Given the description of an element on the screen output the (x, y) to click on. 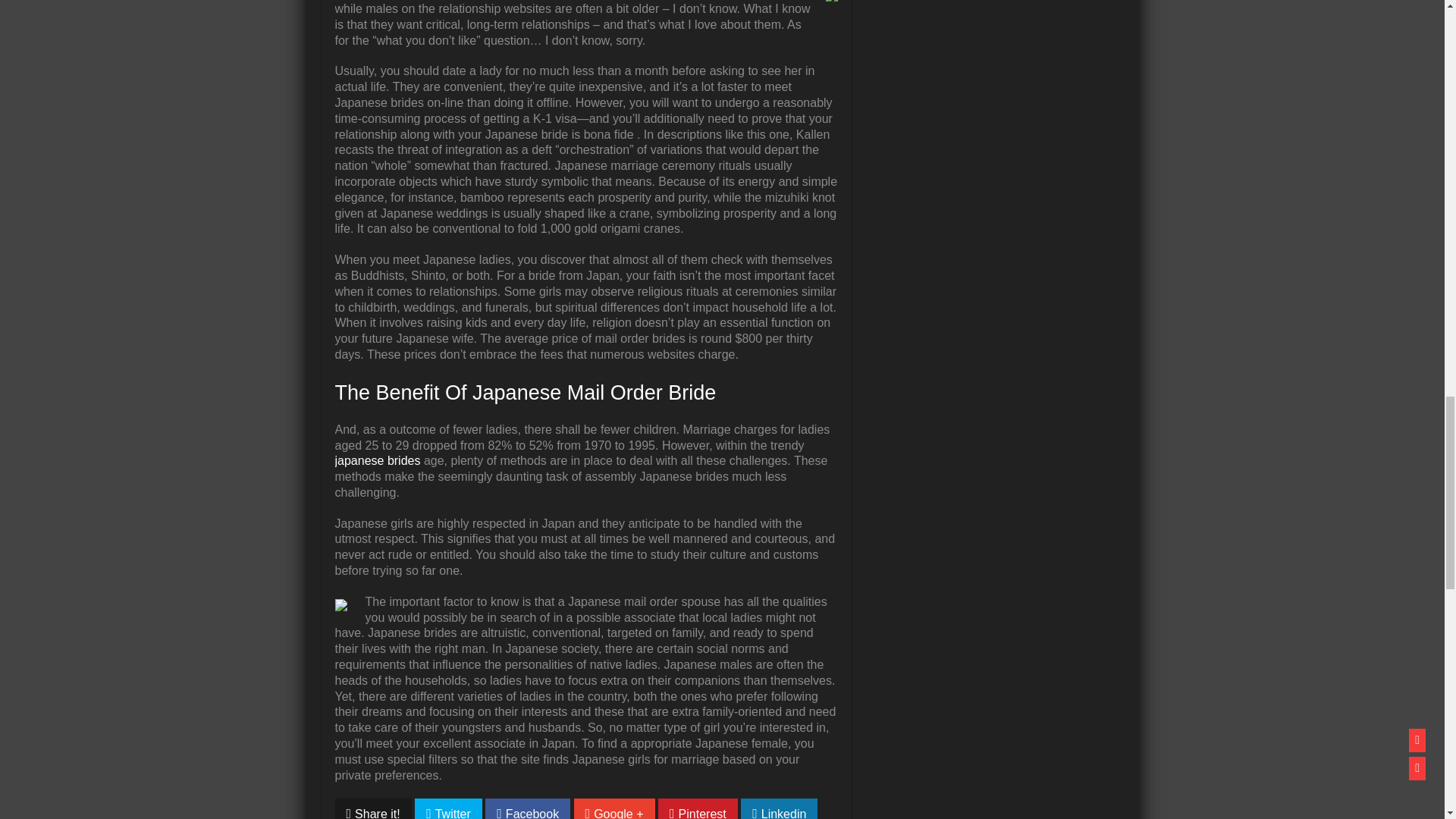
japanese brides (377, 460)
Share it! (373, 808)
Linkedin (778, 808)
Pinterest (698, 808)
Twitter (447, 808)
Facebook (527, 808)
